Given the description of an element on the screen output the (x, y) to click on. 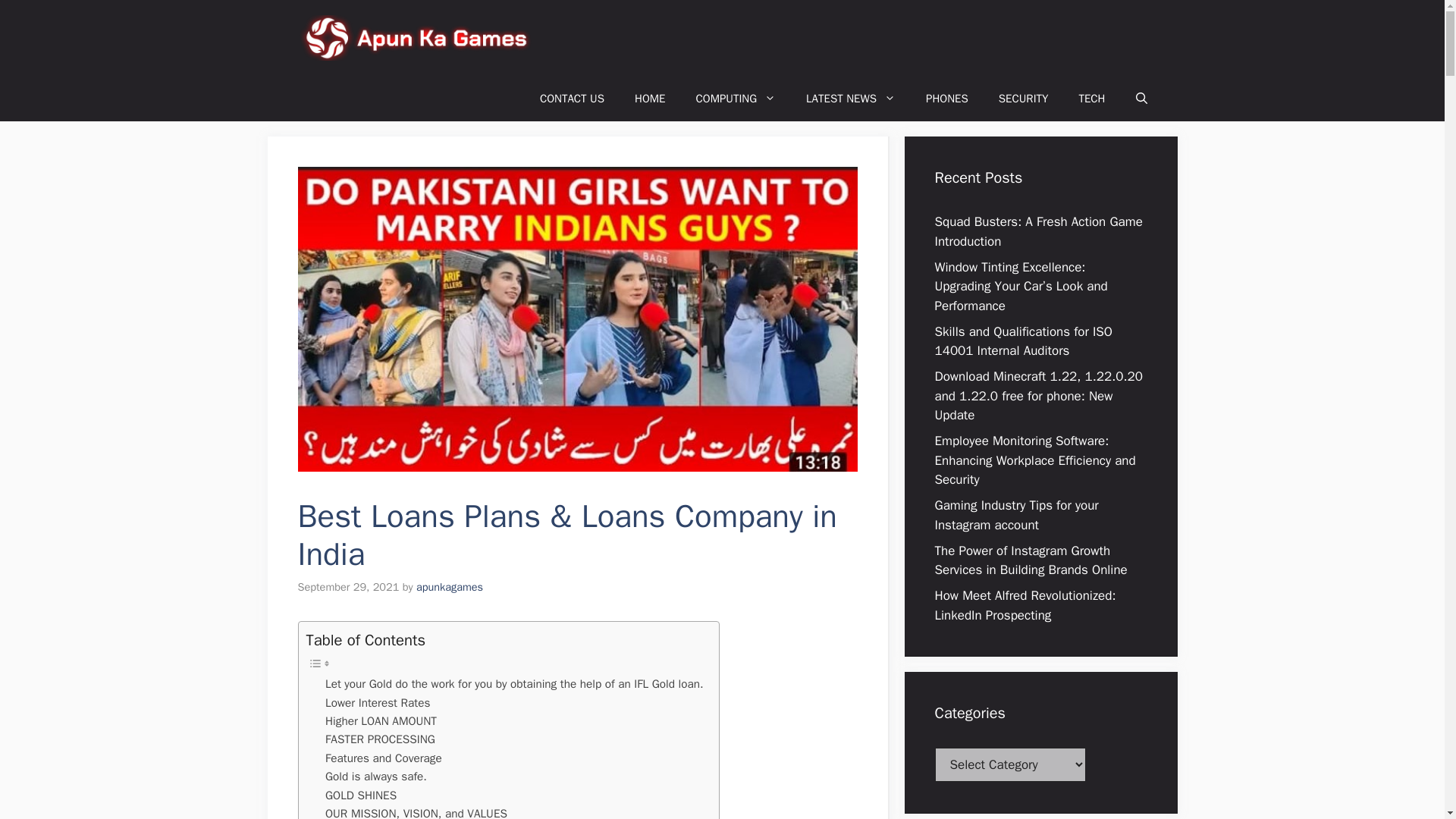
Features and Coverage (383, 758)
TECH (1090, 98)
apunkagames (449, 586)
Gold is always safe. (375, 776)
OUR MISSION, VISION, and VALUES (415, 811)
FASTER PROCESSING (379, 739)
Lower Interest Rates (376, 702)
OUR MISSION, VISION, and VALUES (415, 811)
Lower Interest Rates (376, 702)
